Given the description of an element on the screen output the (x, y) to click on. 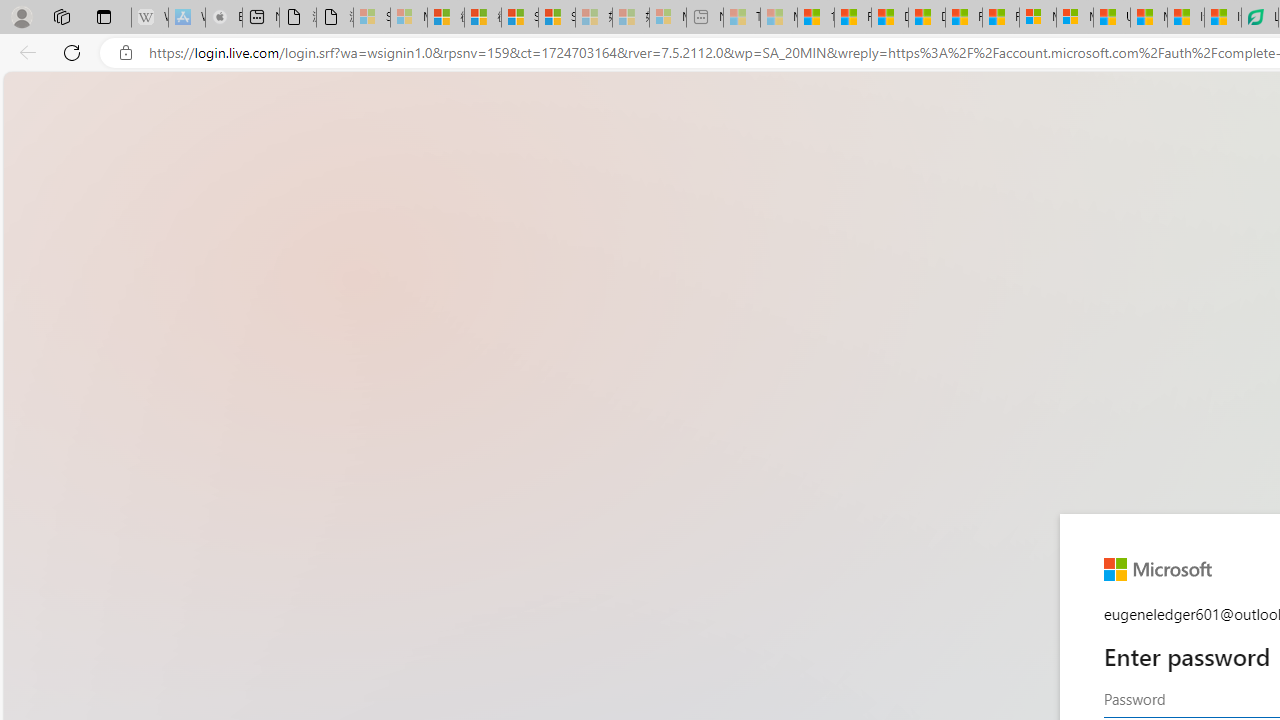
Buy iPad - Apple - Sleeping (223, 17)
Drinking tea every day is proven to delay biological aging (926, 17)
Food and Drink - MSN (852, 17)
Top Stories - MSN - Sleeping (742, 17)
